Given the description of an element on the screen output the (x, y) to click on. 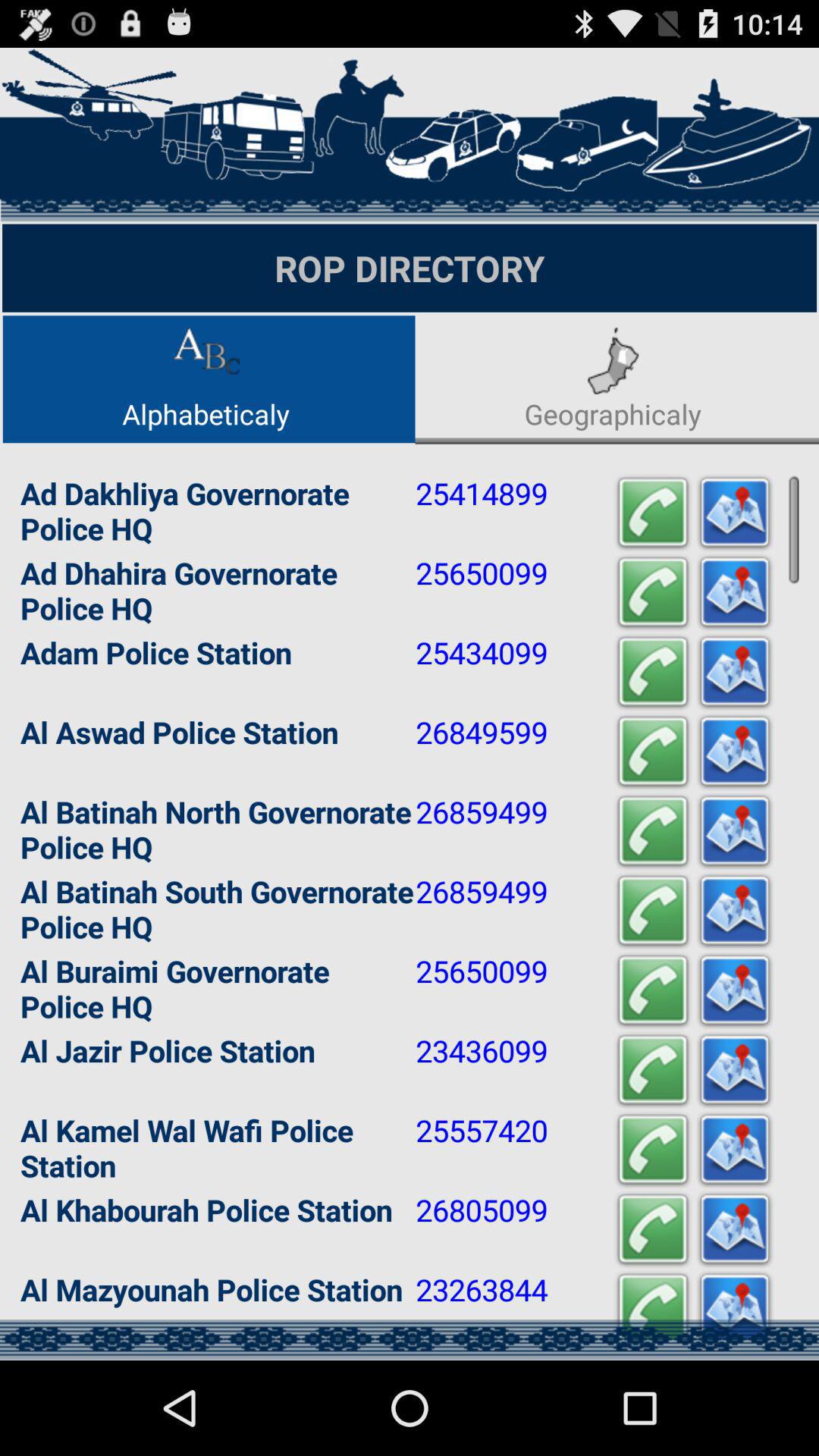
phone number (652, 1070)
